Given the description of an element on the screen output the (x, y) to click on. 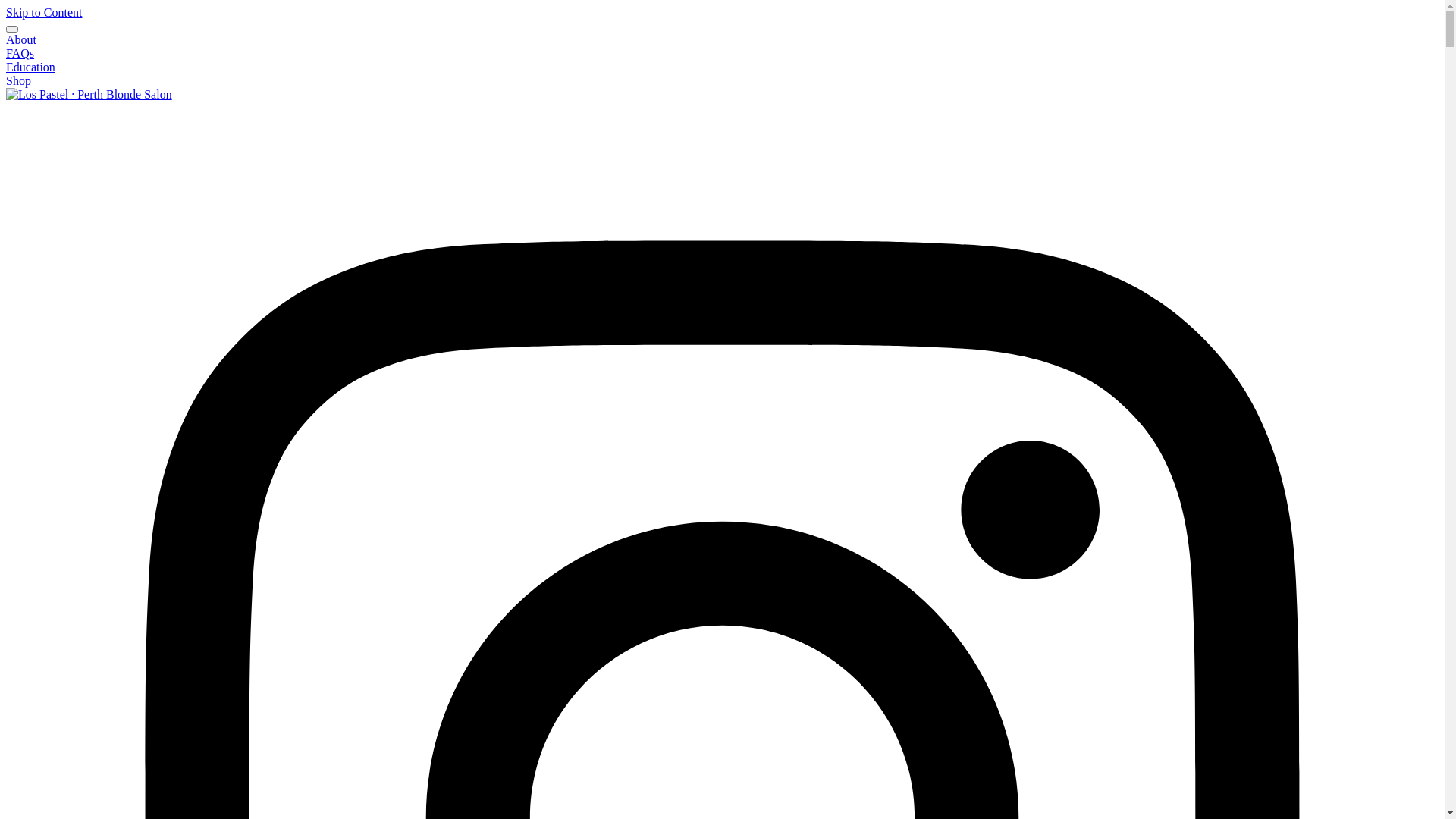
Shop Element type: text (18, 80)
Skip to Content Element type: text (43, 12)
Education Element type: text (30, 66)
FAQs Element type: text (20, 53)
About Element type: text (21, 39)
